Given the description of an element on the screen output the (x, y) to click on. 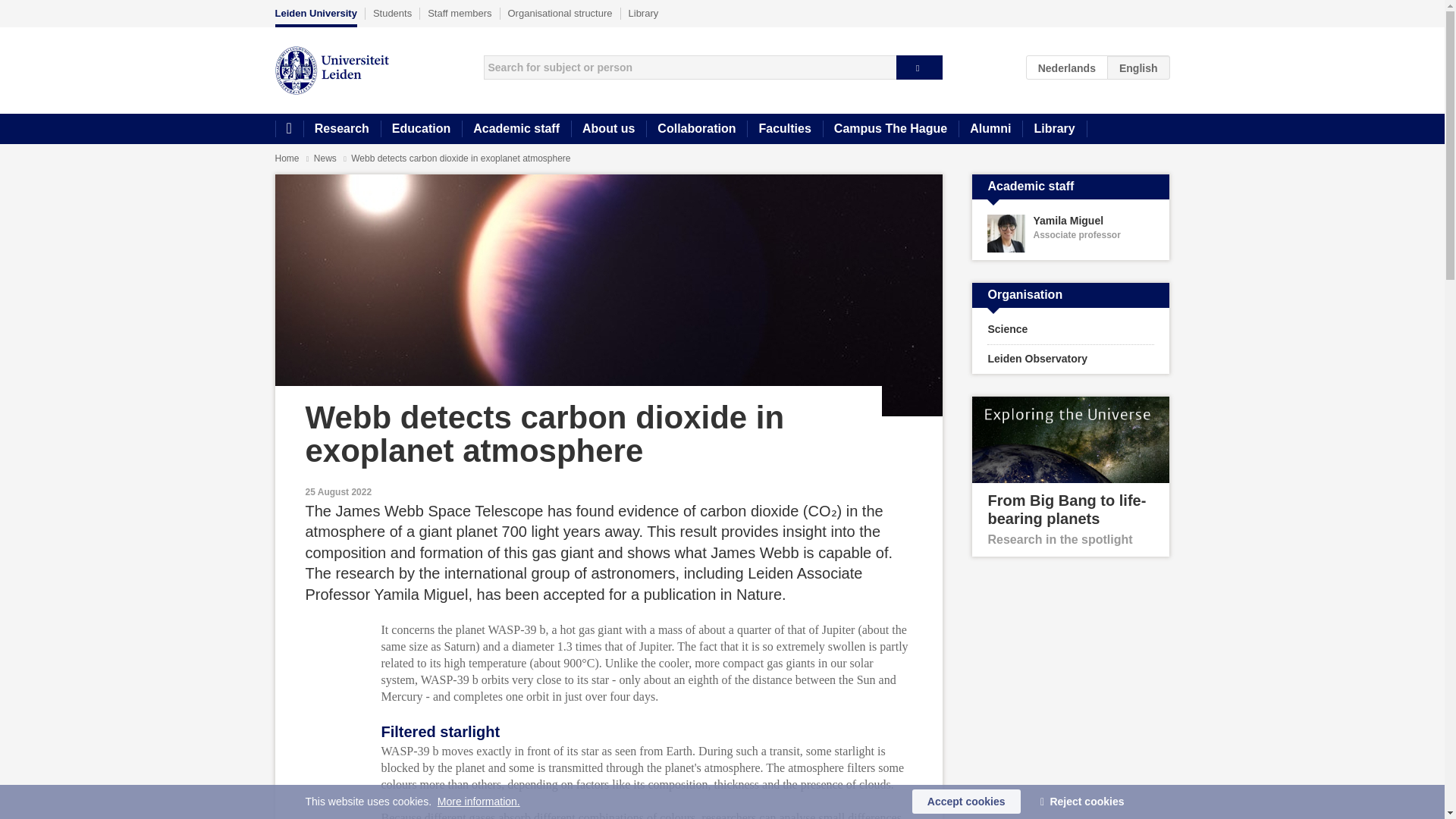
News (326, 158)
About us (608, 128)
Home (288, 128)
Campus The Hague (890, 128)
Library (643, 13)
Research (341, 128)
Academic staff (515, 128)
Leiden University (315, 17)
Organisational structure (560, 13)
Library (1054, 128)
Faculties (784, 128)
Search (919, 67)
Alumni (1070, 233)
Collaboration (990, 128)
